Given the description of an element on the screen output the (x, y) to click on. 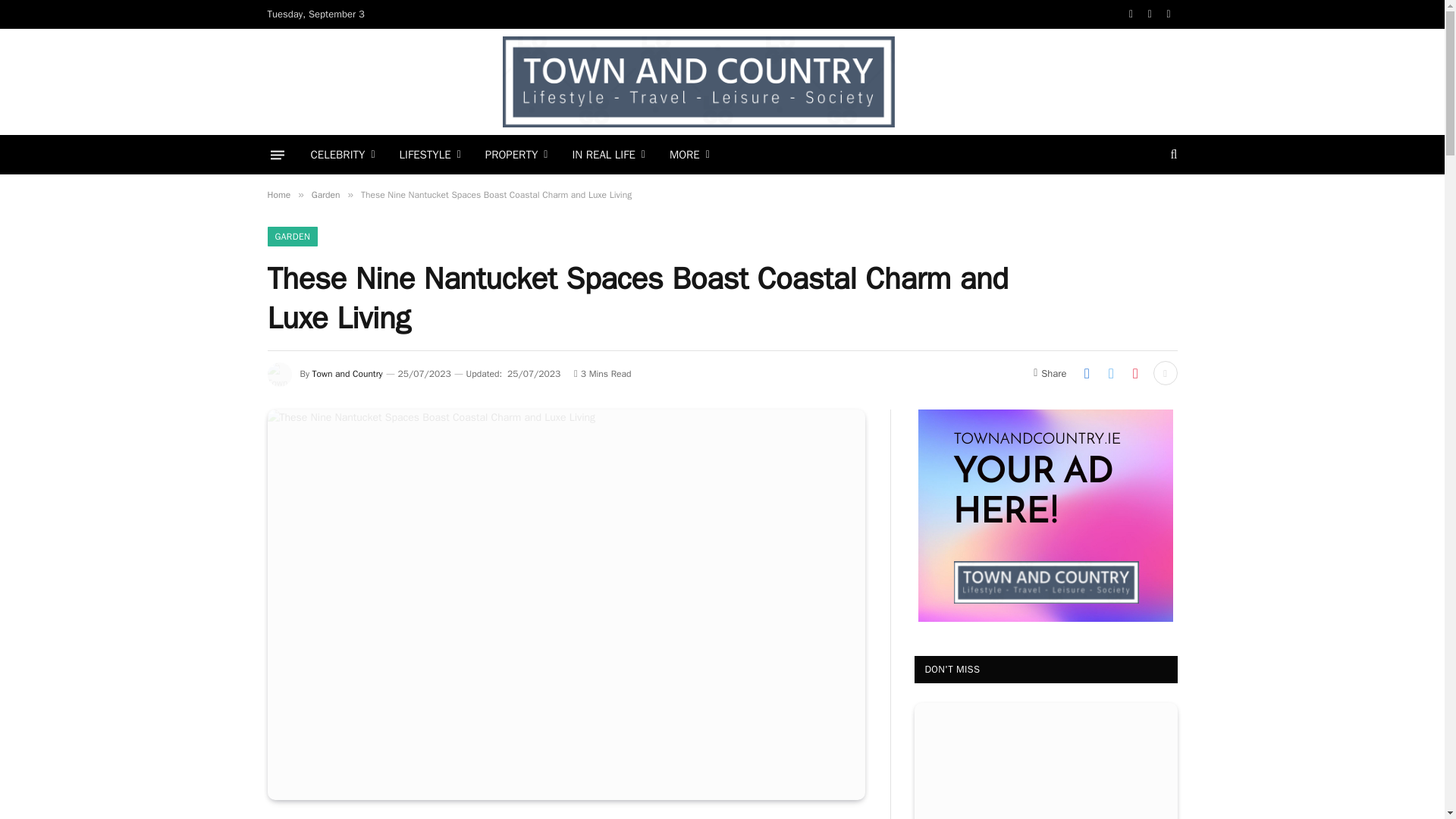
LIFESTYLE (430, 154)
Town and Country (697, 81)
CELEBRITY (342, 154)
